Given the description of an element on the screen output the (x, y) to click on. 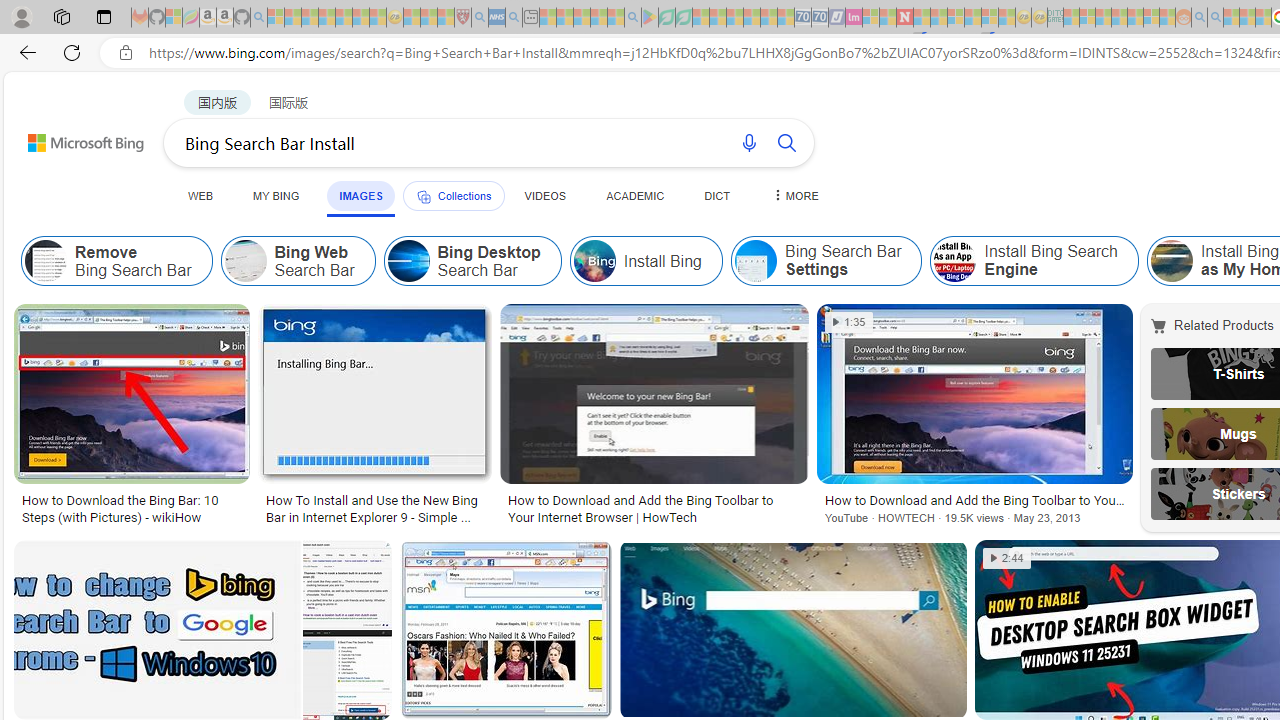
MY BING (276, 195)
ACADEMIC (635, 195)
Local - MSN - Sleeping (445, 17)
ACADEMIC (635, 195)
Image result for Bing Search Bar Install (792, 629)
The Weather Channel - MSN - Sleeping (309, 17)
DICT (717, 195)
Dropdown Menu (793, 195)
